Given the description of an element on the screen output the (x, y) to click on. 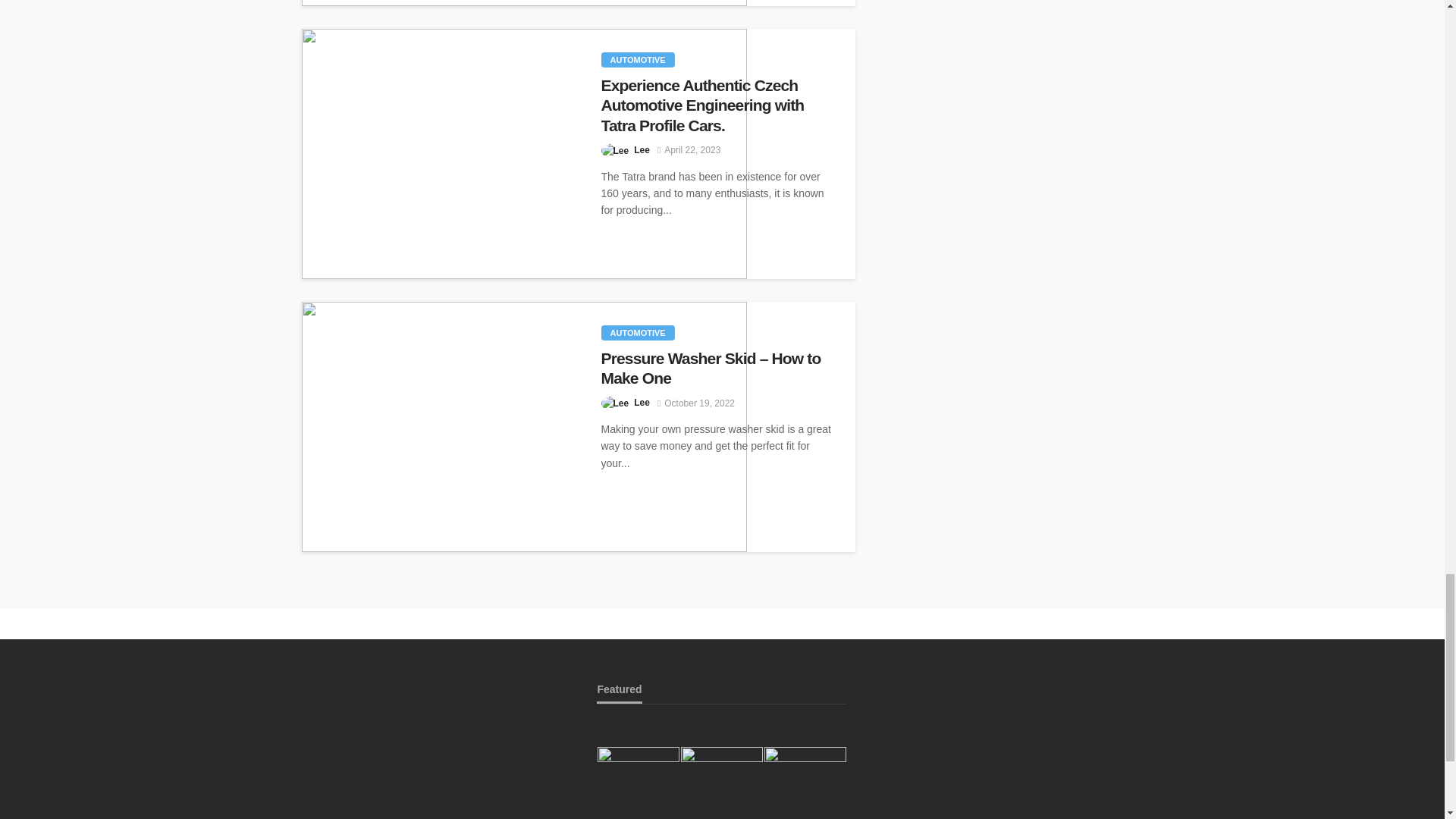
AUTOMOTIVE (636, 59)
Automotive (636, 59)
